Given the description of an element on the screen output the (x, y) to click on. 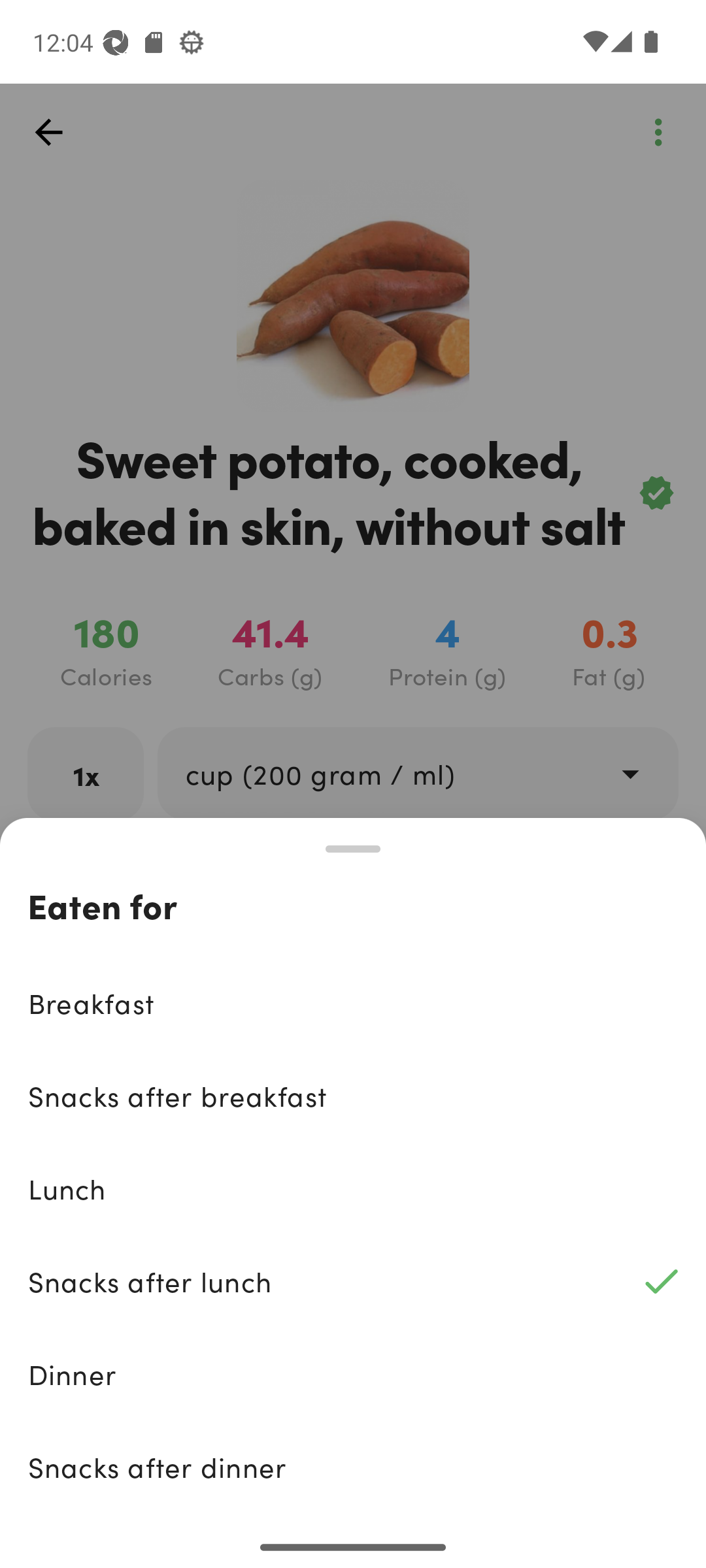
bottom_sheet_option Lunch bottom_sheet_option_text (353, 1188)
